Given the description of an element on the screen output the (x, y) to click on. 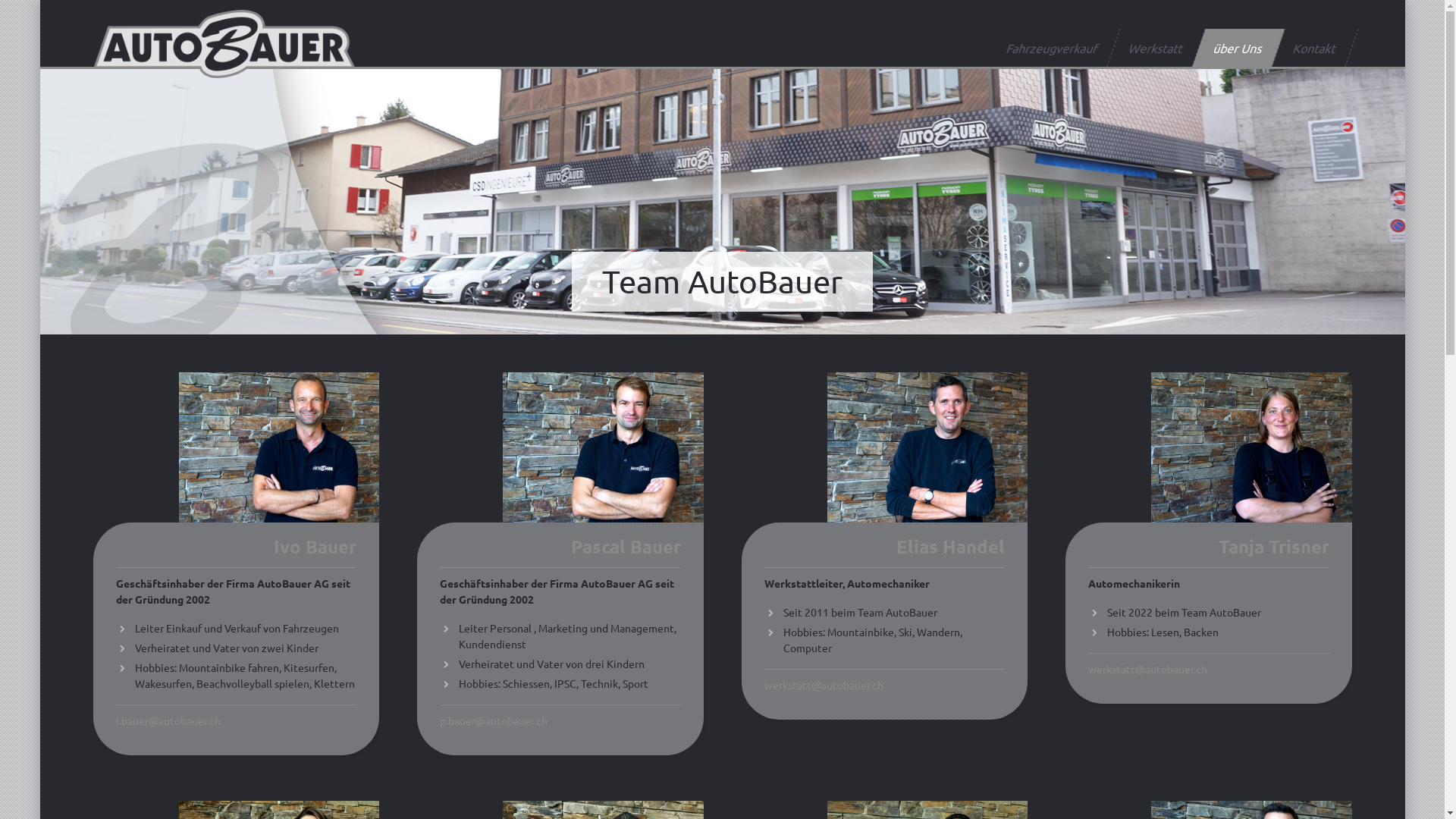
Fahrzeugverkauf Element type: text (1046, 47)
werkstatt@autobauer.ch Element type: text (823, 684)
Werkstatt Element type: text (1149, 47)
Kontakt Element type: text (1308, 47)
i.bauer@autobauer.ch Element type: text (167, 720)
werkstatt@autobauer.ch Element type: text (1147, 668)
p.bauer@autobauer.ch Element type: text (493, 720)
